Given the description of an element on the screen output the (x, y) to click on. 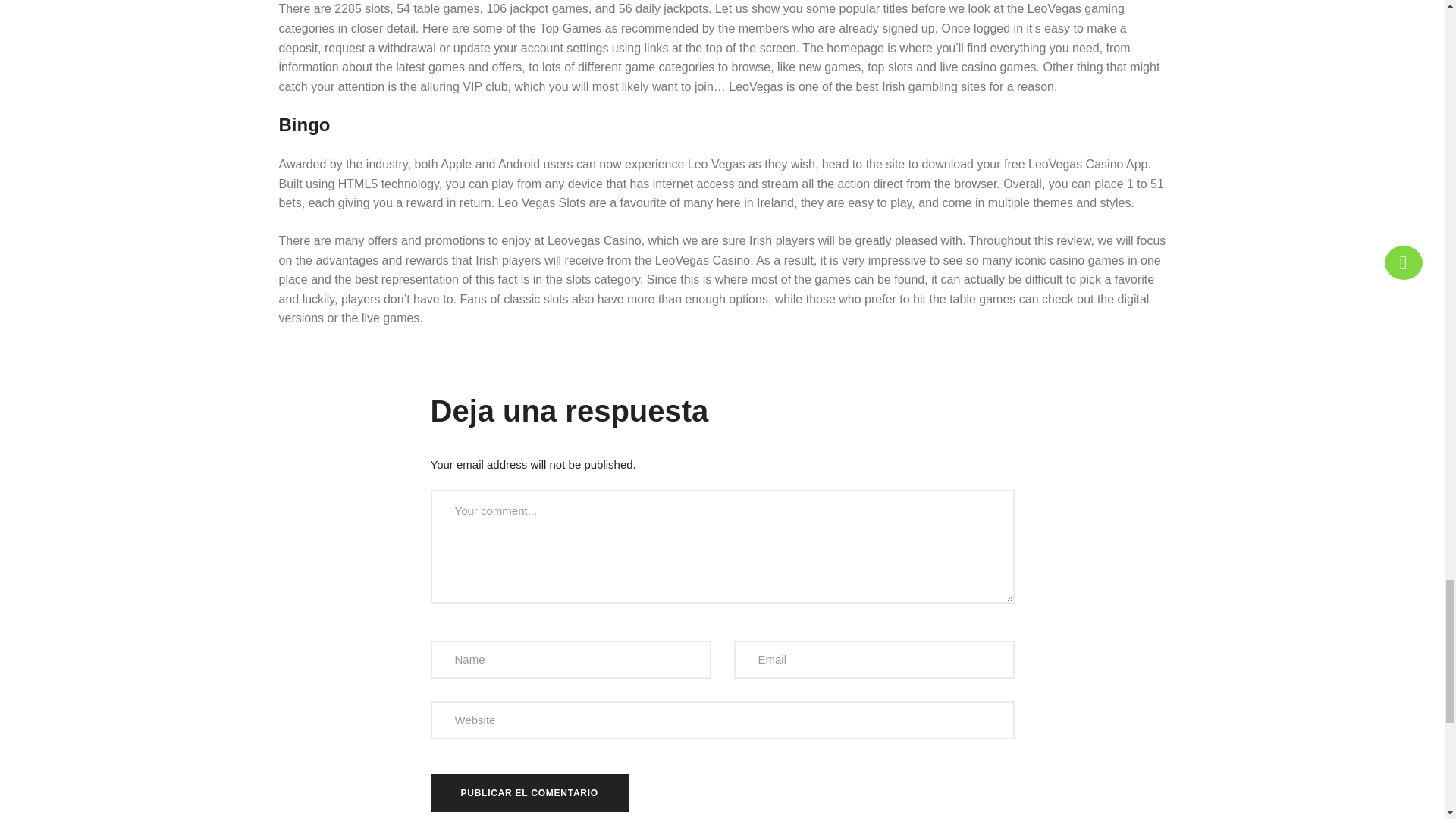
Publicar el comentario (529, 792)
